Given the description of an element on the screen output the (x, y) to click on. 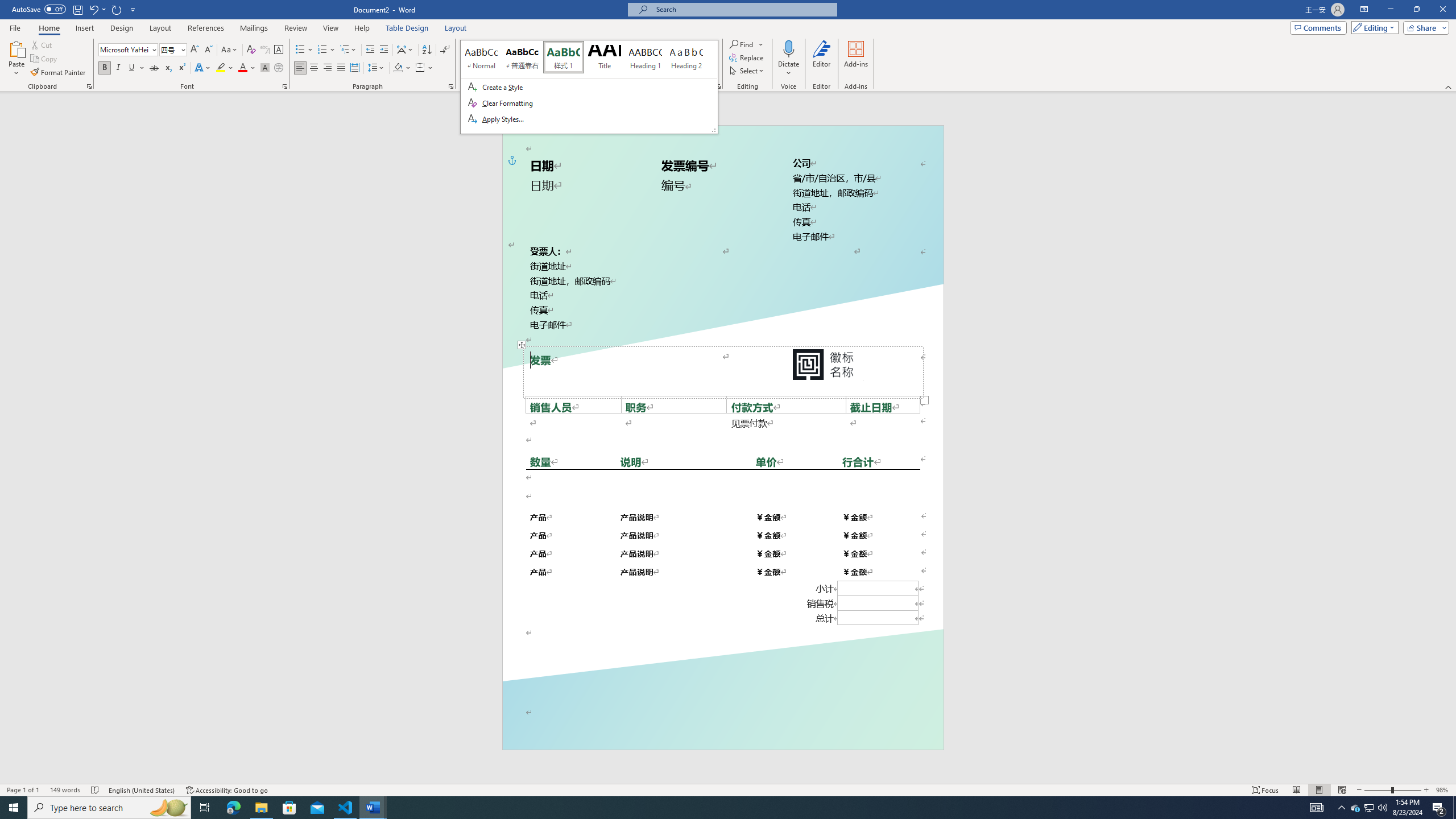
Running applications (717, 807)
Word - 2 running windows (373, 807)
